Given the description of an element on the screen output the (x, y) to click on. 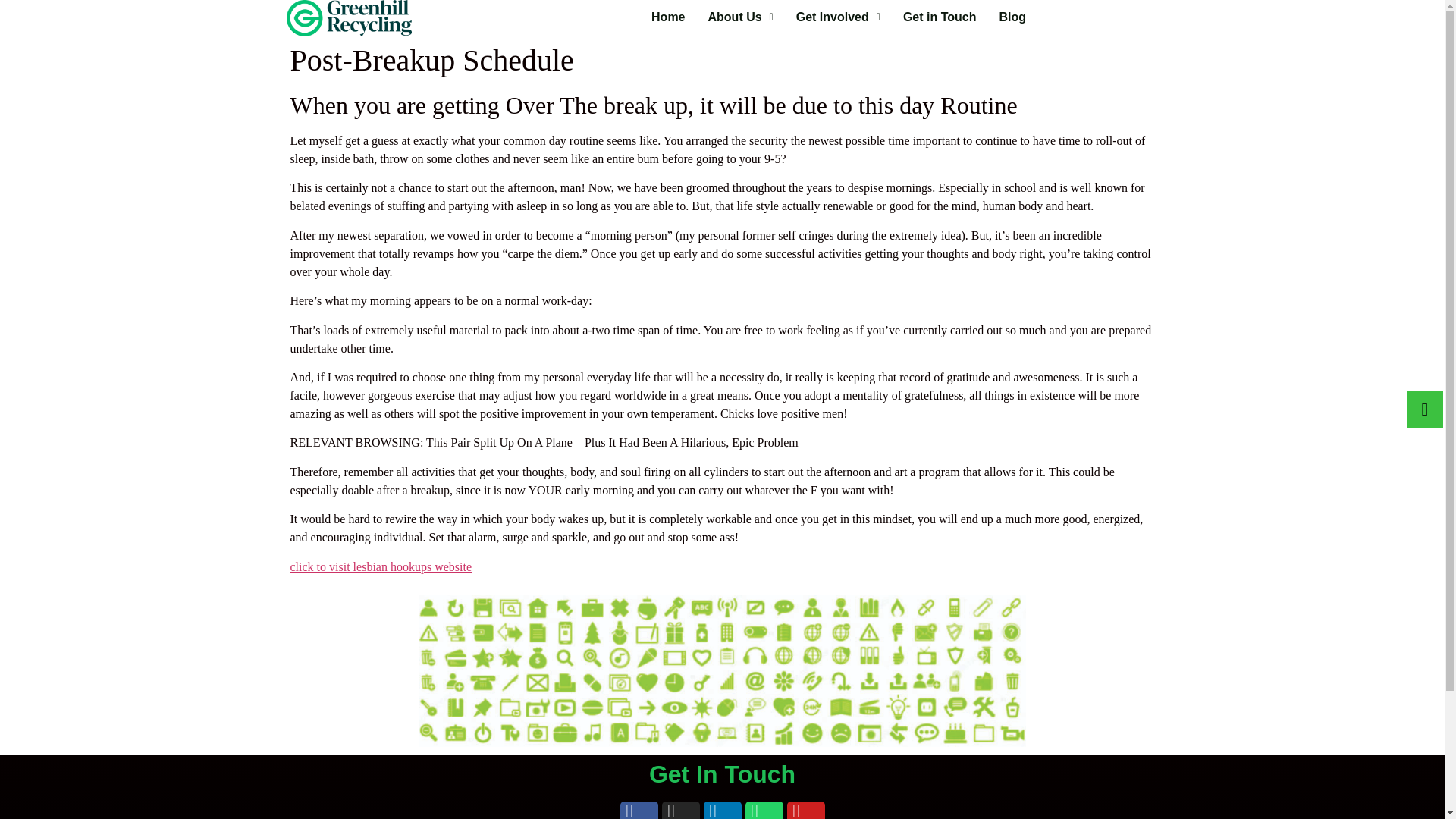
Get in Touch (939, 17)
click to visit lesbian hookups website (380, 566)
About Us (739, 17)
Get Involved (837, 17)
Blog (1011, 17)
Home (667, 17)
